Given the description of an element on the screen output the (x, y) to click on. 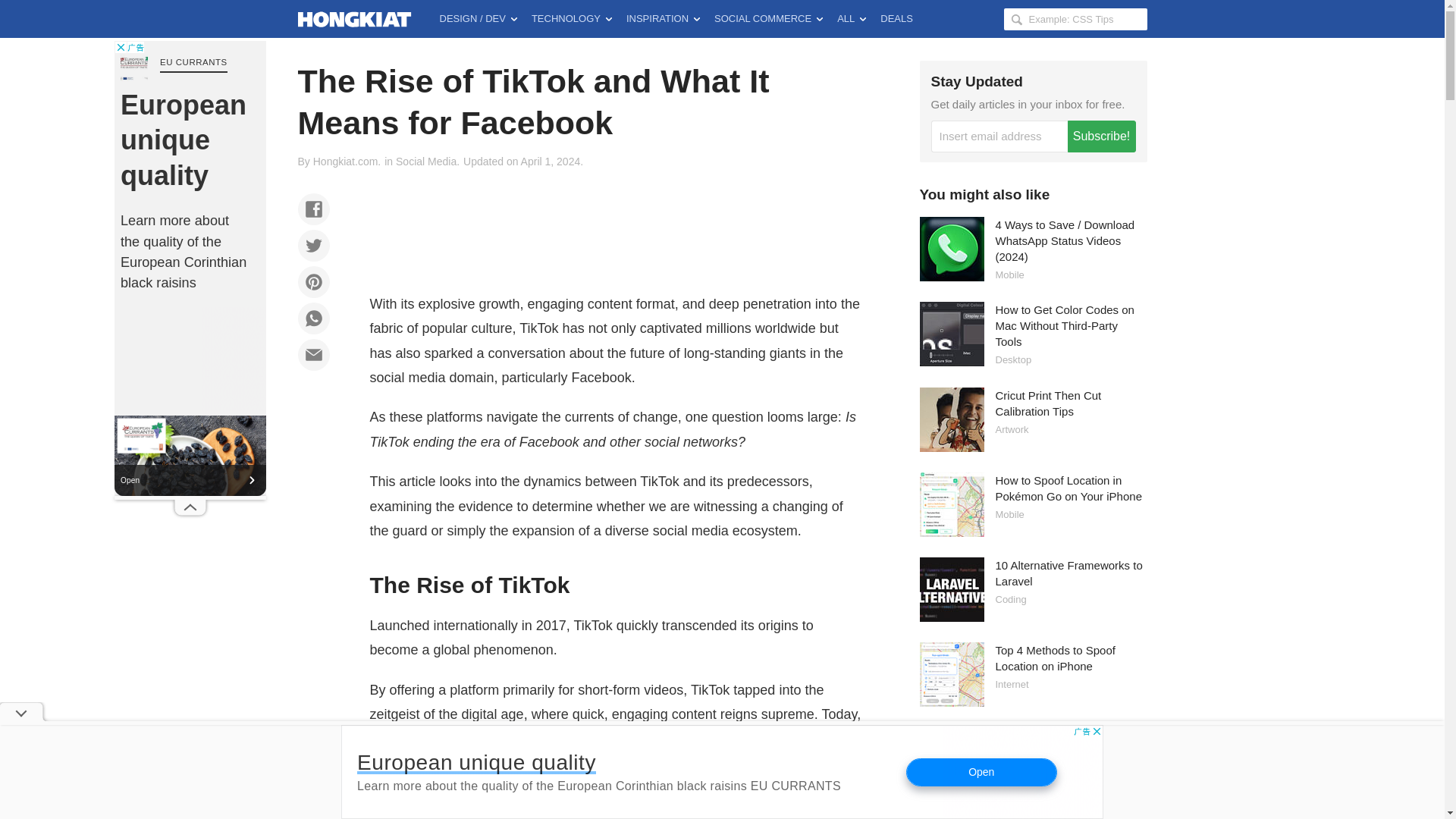
INSPIRATION (662, 18)
Advertisement (616, 805)
How to Get Color Codes on Mac Without Third-Party Tools (1064, 325)
Advertisement (721, 771)
Desktop (1012, 359)
Search Hongkiat for (1075, 18)
Mobile (1008, 274)
Hongkiat.com (345, 161)
Advertisement (616, 227)
Advertisement (190, 268)
DEALS (896, 18)
SOCIAL COMMERCE (767, 18)
Artwork (1010, 428)
Mobile (1008, 514)
Cricut Print Then Cut Calibration Tips (1047, 402)
